Given the description of an element on the screen output the (x, y) to click on. 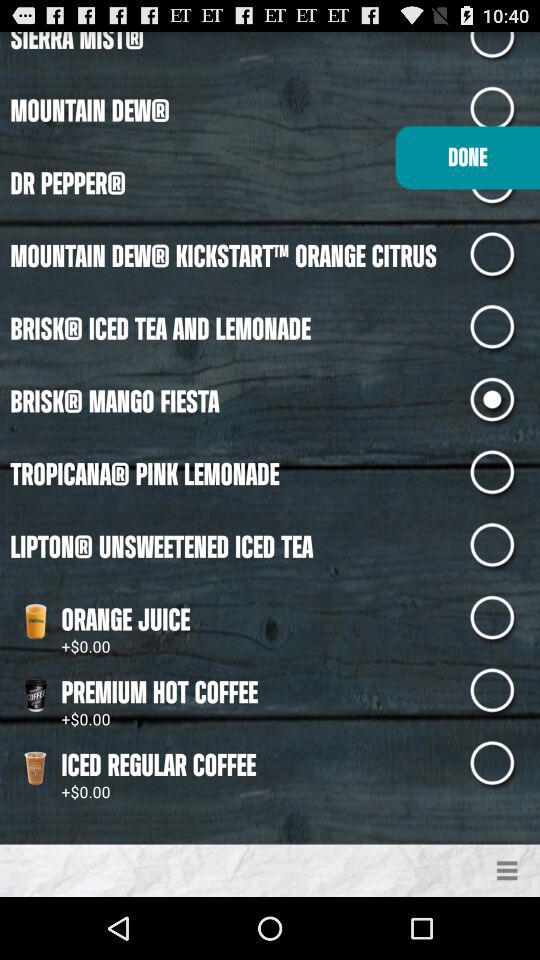
click on the button which is above done (504, 111)
click on the circle icon which is next to tropicana pink lemonade (504, 475)
click on the button which is next to the lipton unsweetened iced tea (504, 548)
click on the circle icon below done (504, 257)
